Given the description of an element on the screen output the (x, y) to click on. 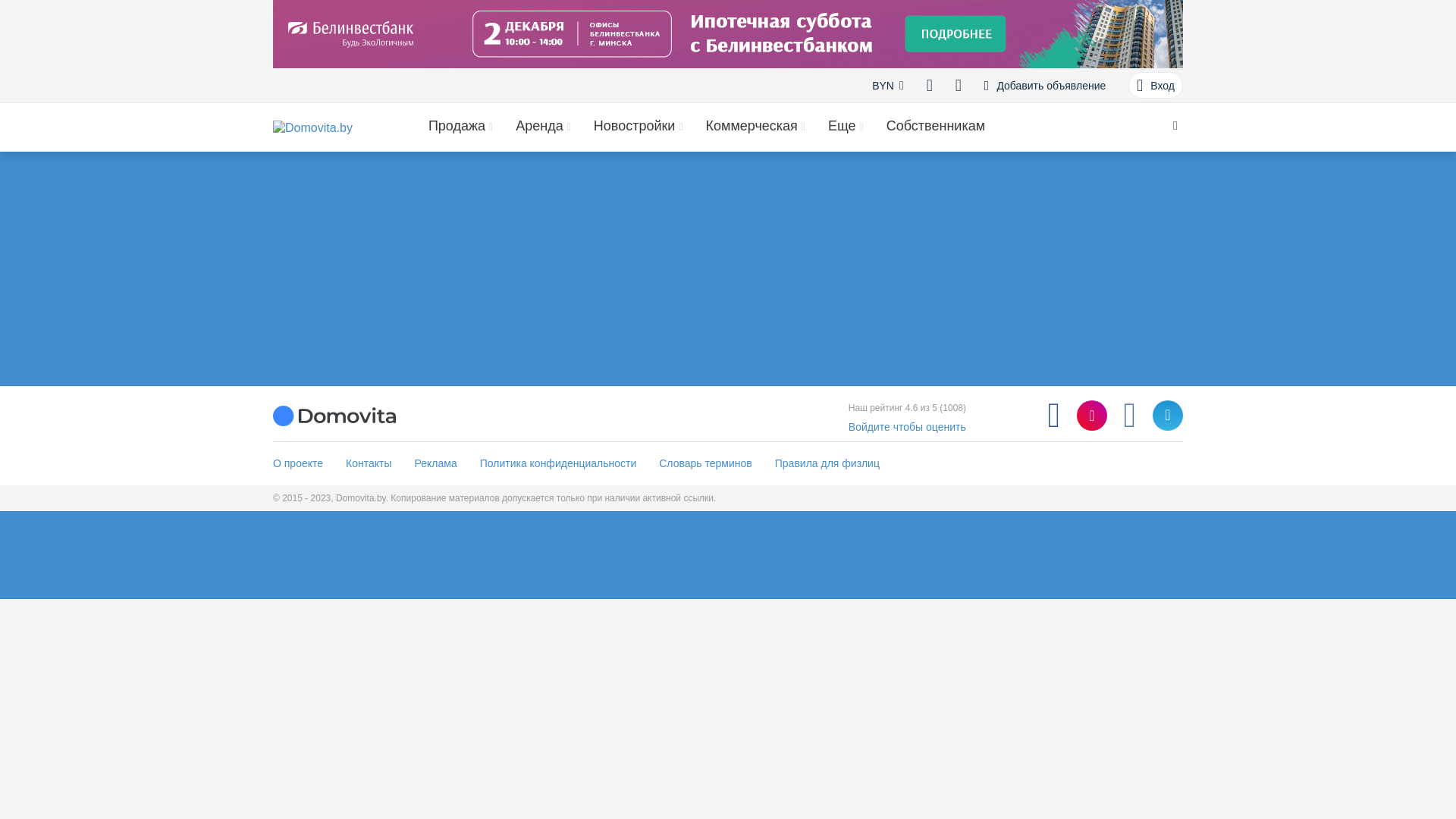
3rd party ad content Element type: hover (728, 34)
